Given the description of an element on the screen output the (x, y) to click on. 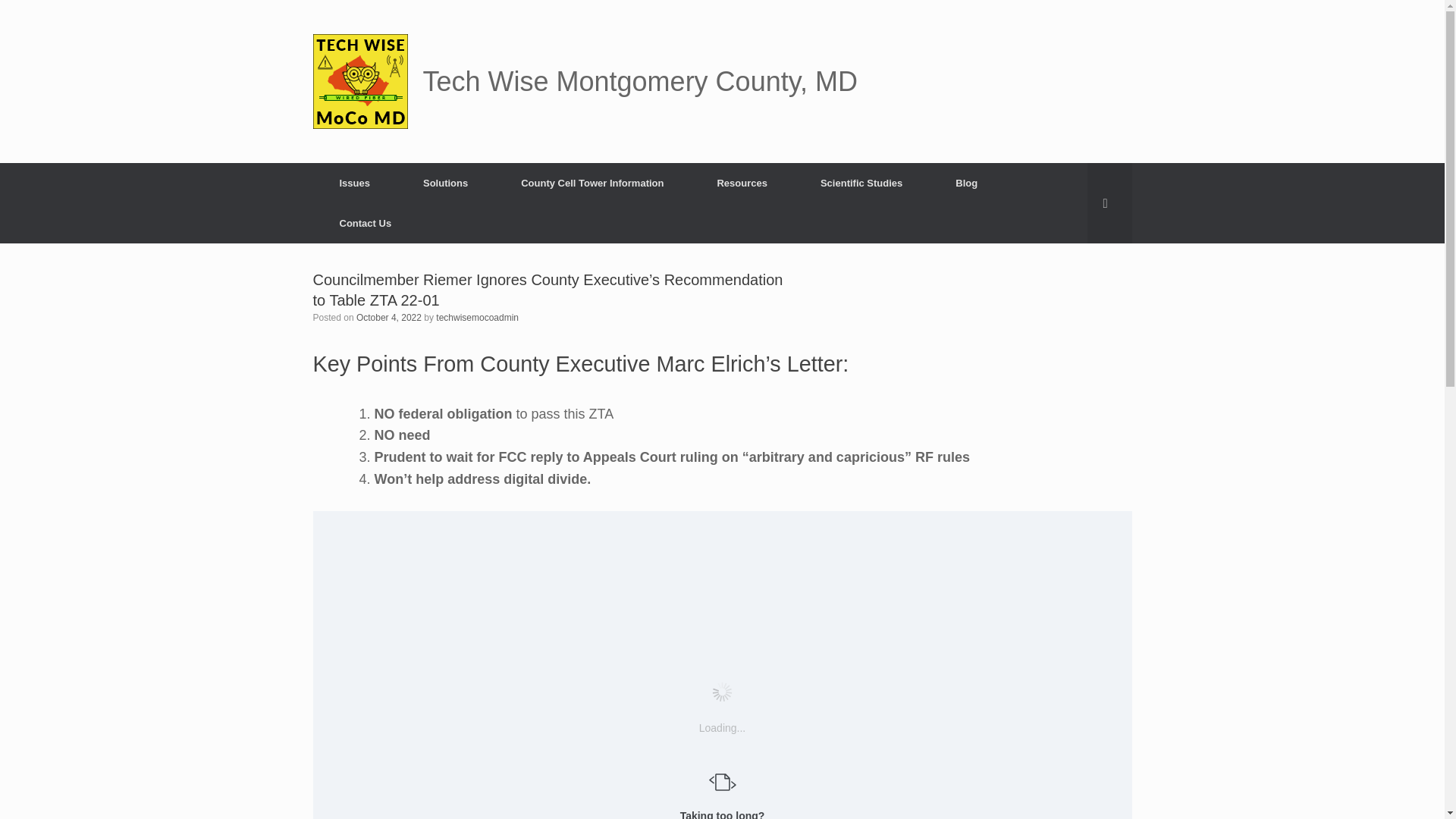
Issues (354, 182)
Scientific Studies (860, 182)
Blog (966, 182)
techwisemocoadmin (476, 317)
12:36 pm (389, 317)
View all posts by techwisemocoadmin (476, 317)
October 4, 2022 (389, 317)
Tech Wise Montgomery County, MD (585, 81)
Contact Us (365, 223)
